Given the description of an element on the screen output the (x, y) to click on. 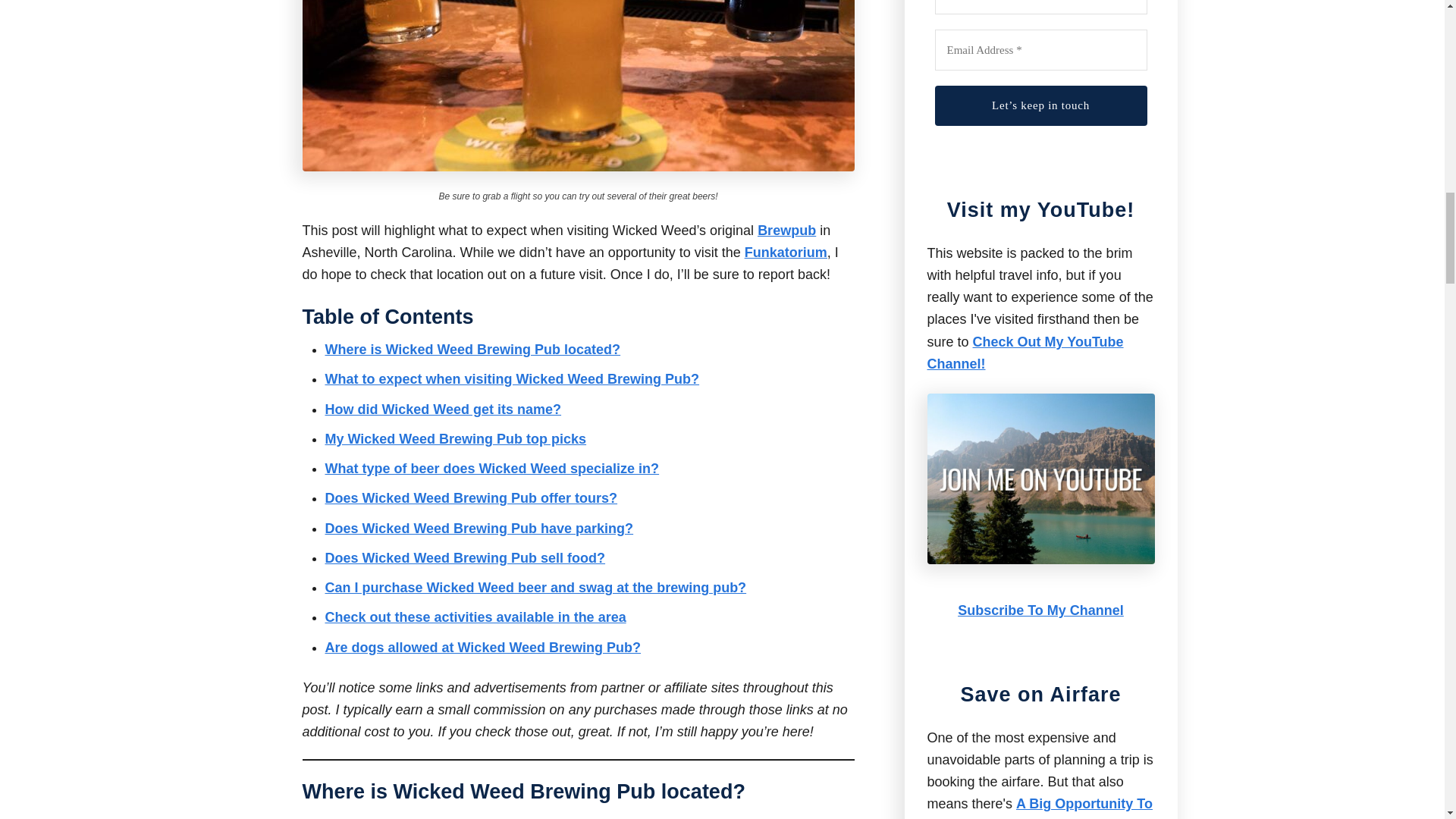
Brewpub (786, 230)
Where is Wicked Weed Brewing Pub located? (472, 349)
What to expect when visiting Wicked Weed Brewing Pub? (511, 378)
First name (1040, 7)
What type of beer does Wicked Weed specialize in? (491, 468)
My Wicked Weed Brewing Pub top picks (455, 438)
Email Address (1040, 50)
Does Wicked Weed Brewing Pub offer tours? (470, 498)
Funkatorium (785, 252)
How did Wicked Weed get its name? (442, 409)
